Given the description of an element on the screen output the (x, y) to click on. 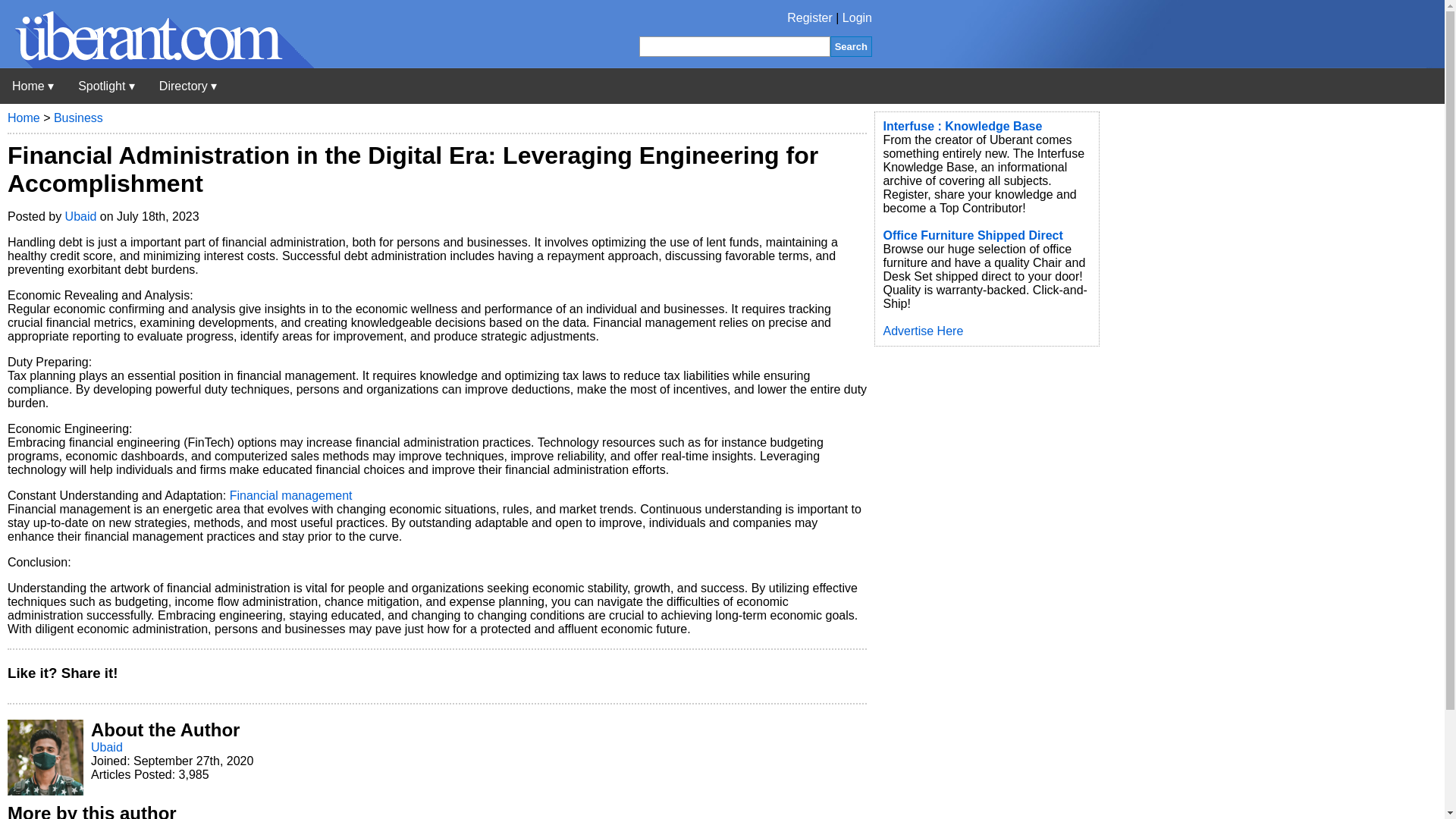
Search (850, 46)
Uberant (32, 85)
Register (809, 17)
Login (857, 17)
Search (850, 46)
Uberant (157, 63)
